Given the description of an element on the screen output the (x, y) to click on. 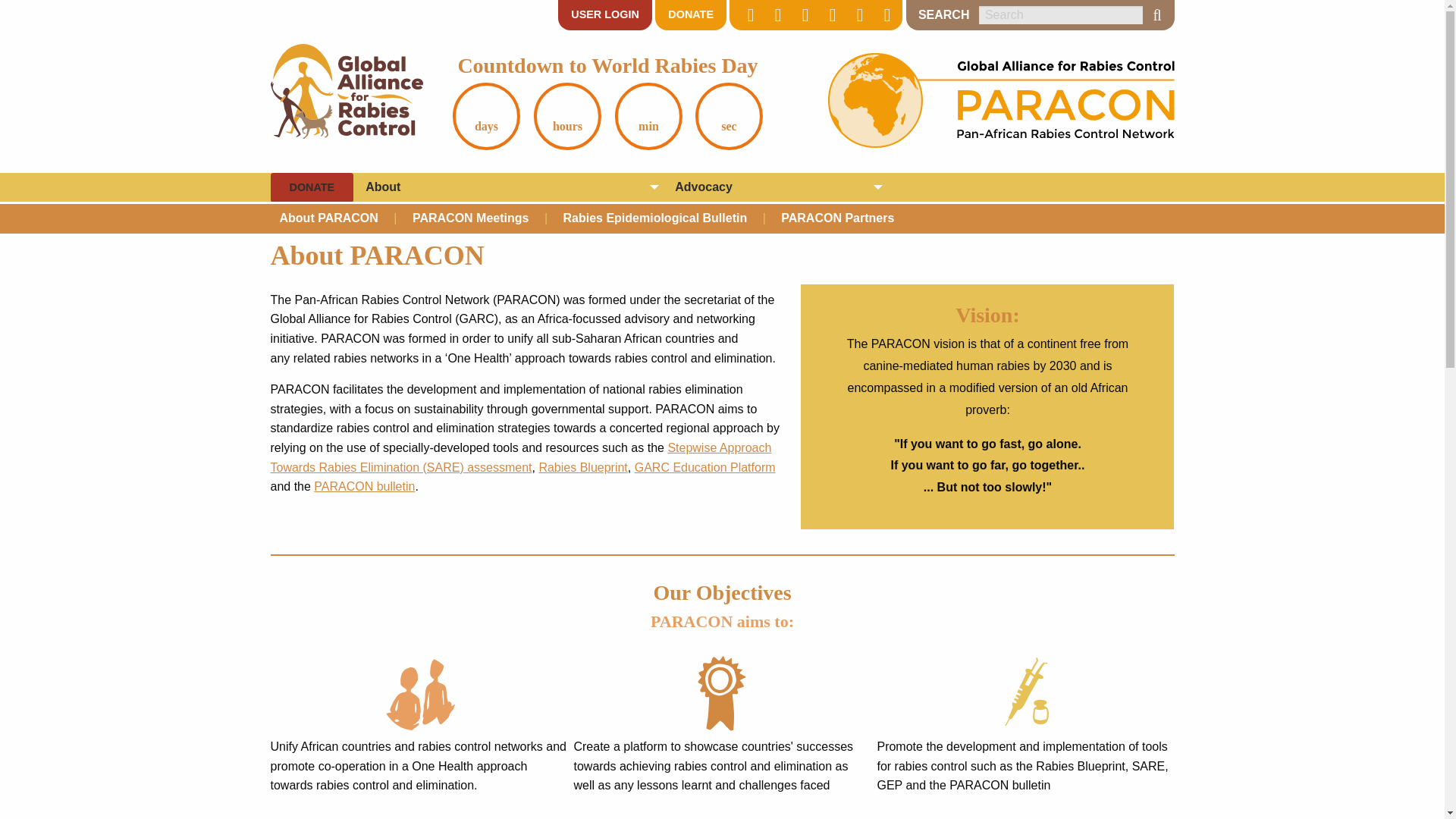
min (648, 115)
Contact Us (883, 14)
About (507, 186)
Twitter (747, 14)
Donate to support our work (311, 187)
Instagram (829, 14)
Facebook (774, 14)
YouTube (802, 14)
SEARCH (1156, 14)
hours (567, 115)
Advocacy (773, 186)
USER LOGIN (604, 15)
DONATE (690, 15)
DONATE (311, 187)
